Given the description of an element on the screen output the (x, y) to click on. 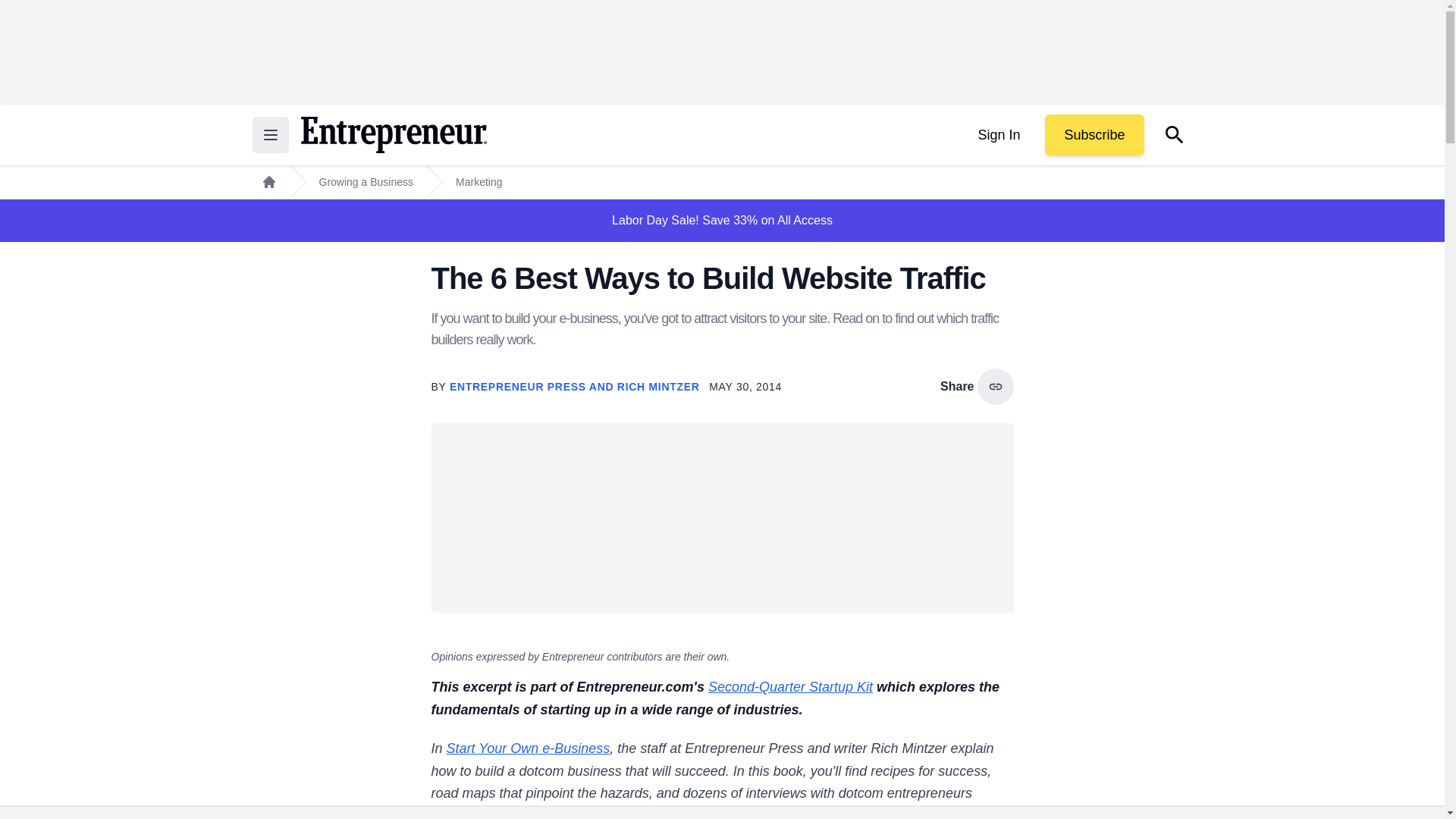
Return to the home page (392, 135)
Sign In (998, 134)
copy (994, 386)
Subscribe (1093, 134)
